Given the description of an element on the screen output the (x, y) to click on. 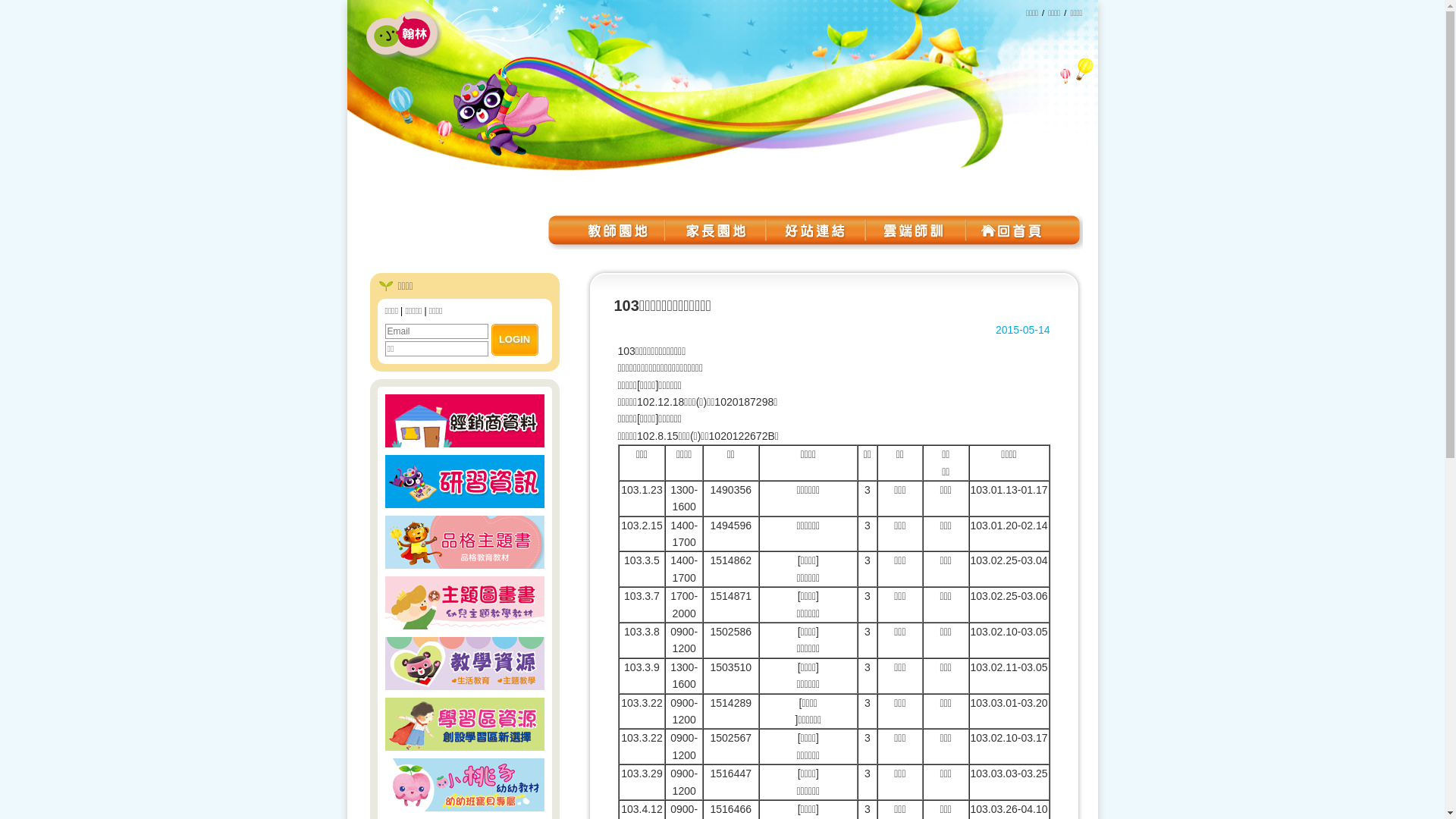
LOGIN Element type: text (514, 339)
